Given the description of an element on the screen output the (x, y) to click on. 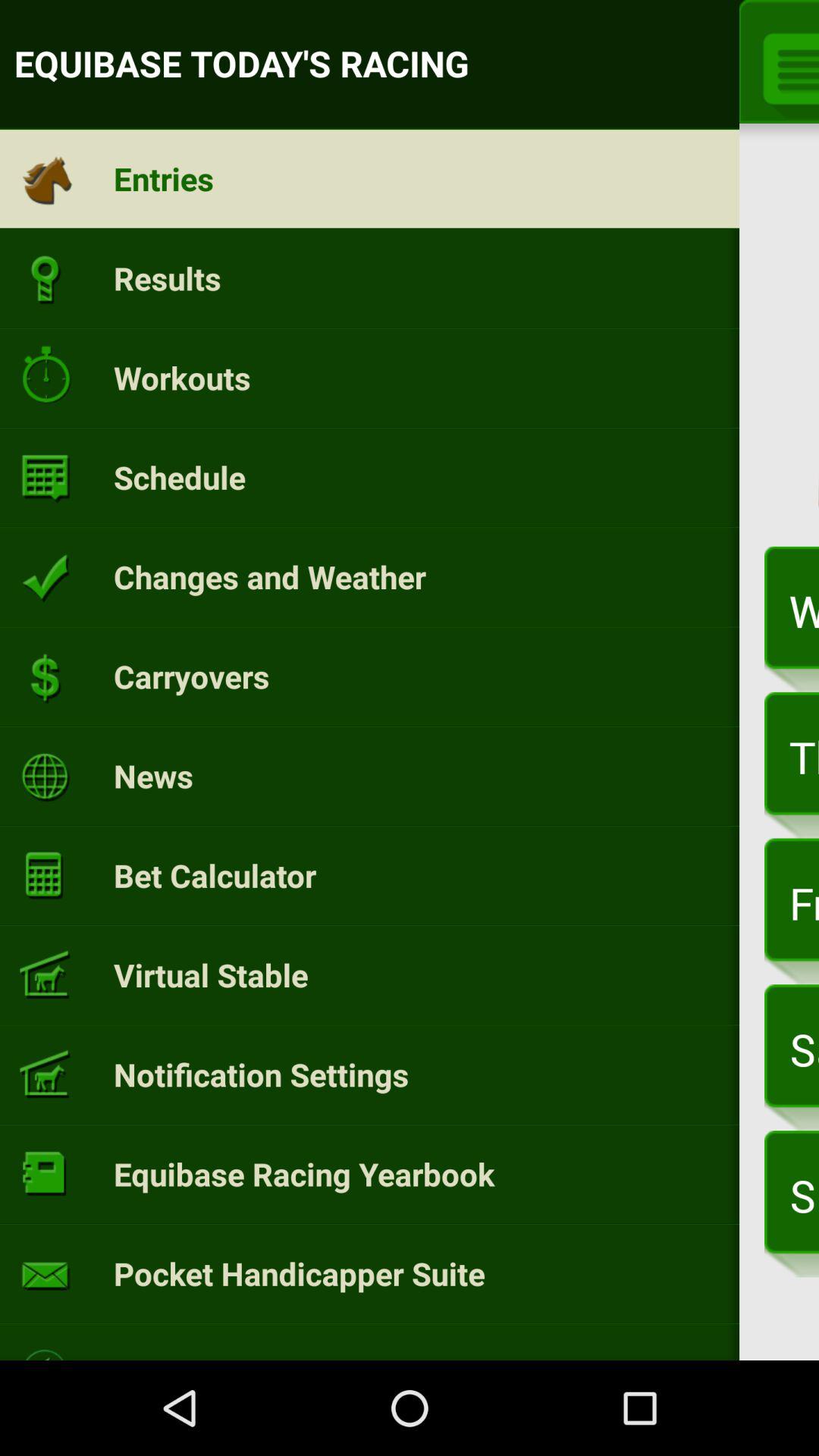
open item next to the friday, mar 31 item (210, 974)
